Given the description of an element on the screen output the (x, y) to click on. 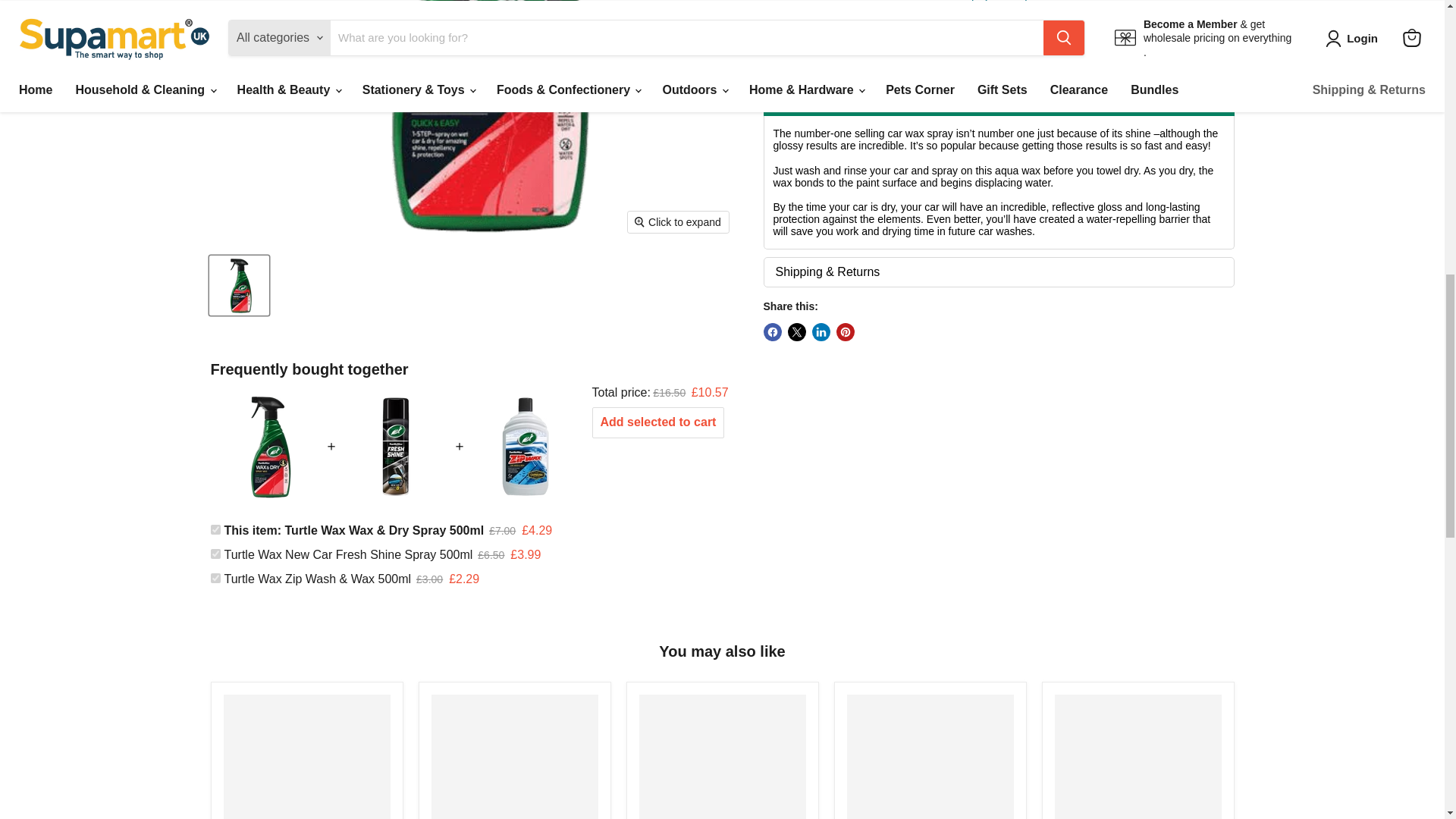
on (216, 529)
on (216, 553)
on (216, 578)
